Given the description of an element on the screen output the (x, y) to click on. 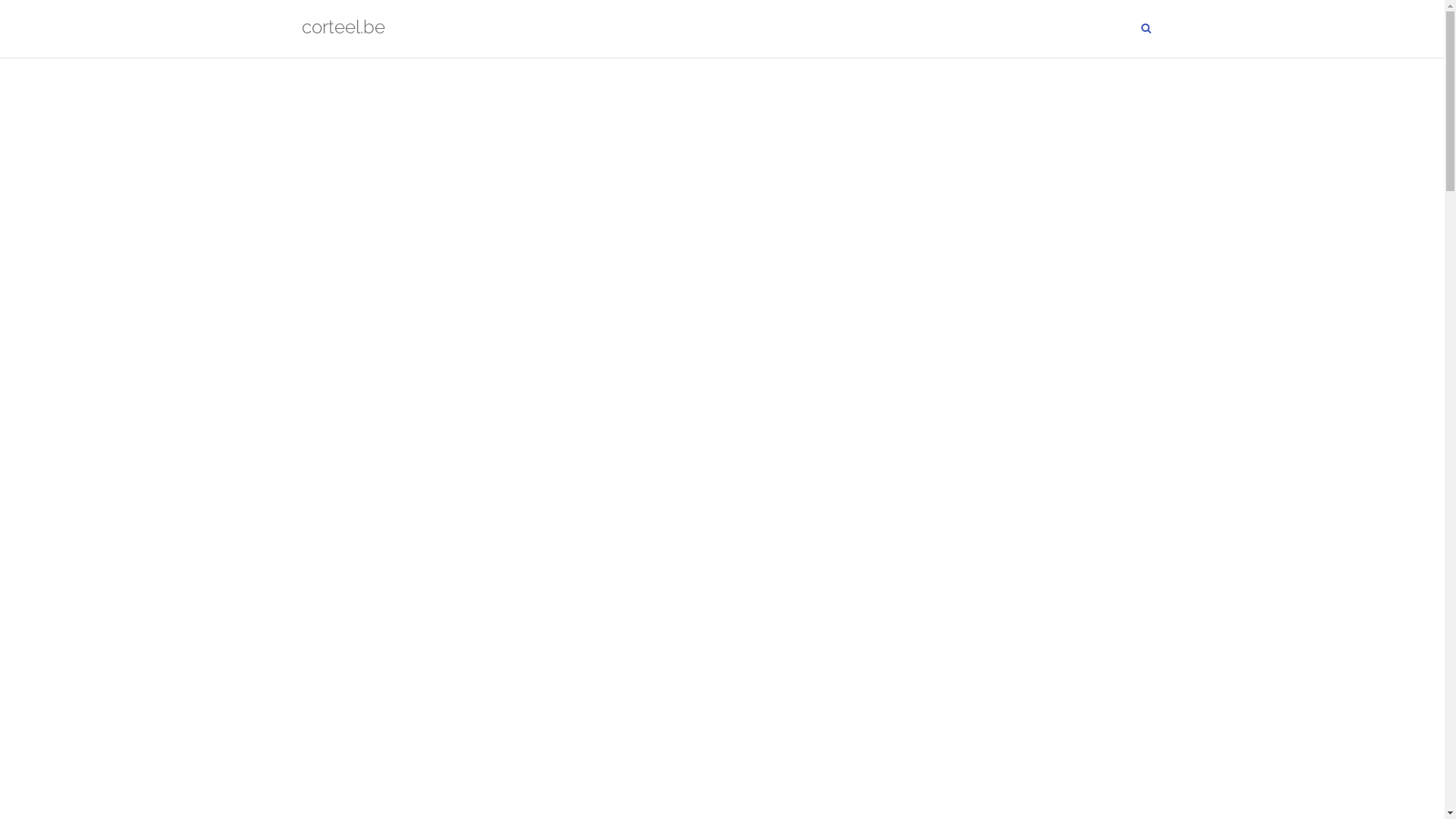
Aller au contenu Element type: text (0, 0)
corteel.be Element type: text (343, 28)
